Given the description of an element on the screen output the (x, y) to click on. 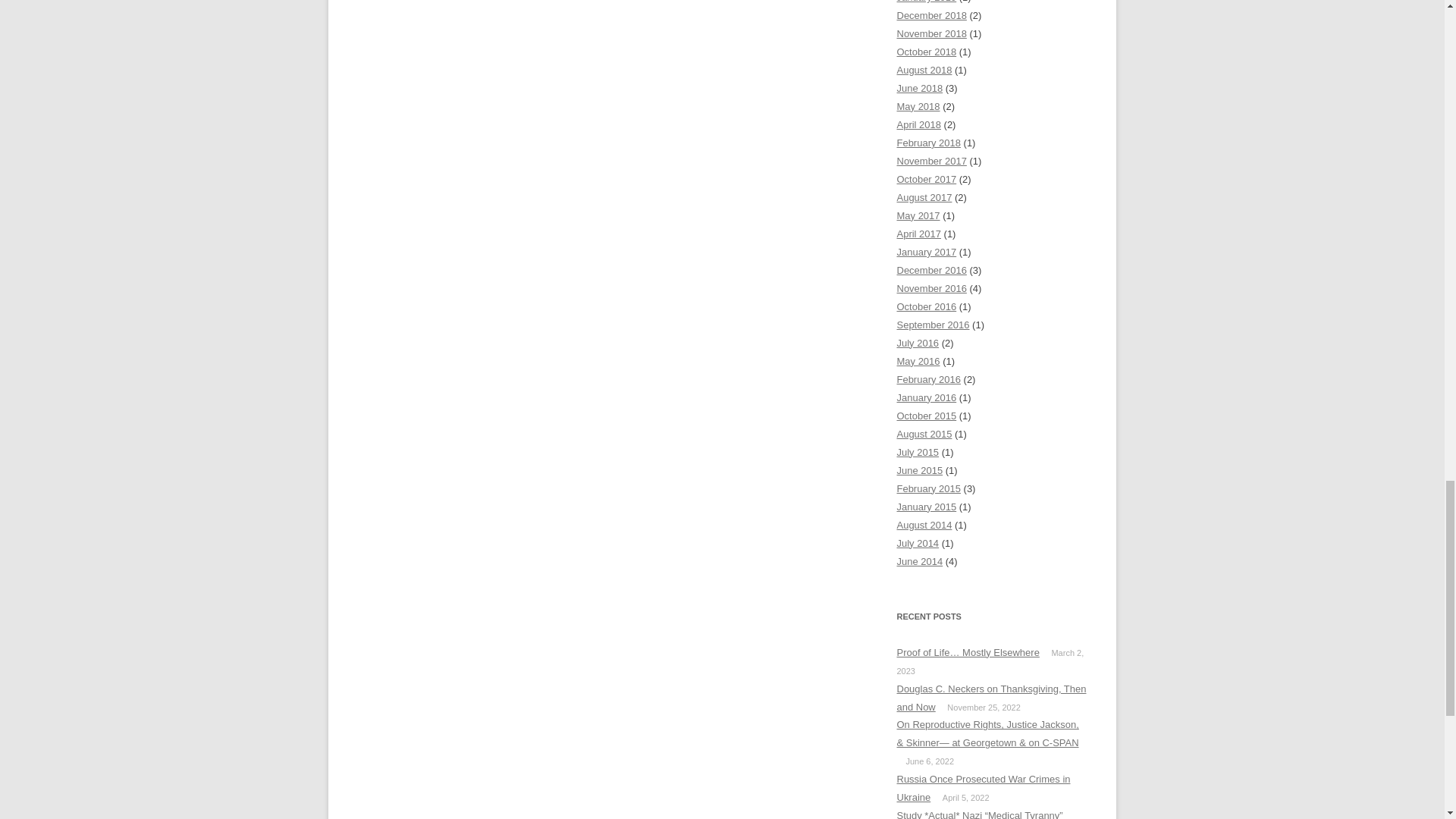
January 2019 (926, 1)
November 2018 (931, 33)
December 2018 (931, 15)
